Given the description of an element on the screen output the (x, y) to click on. 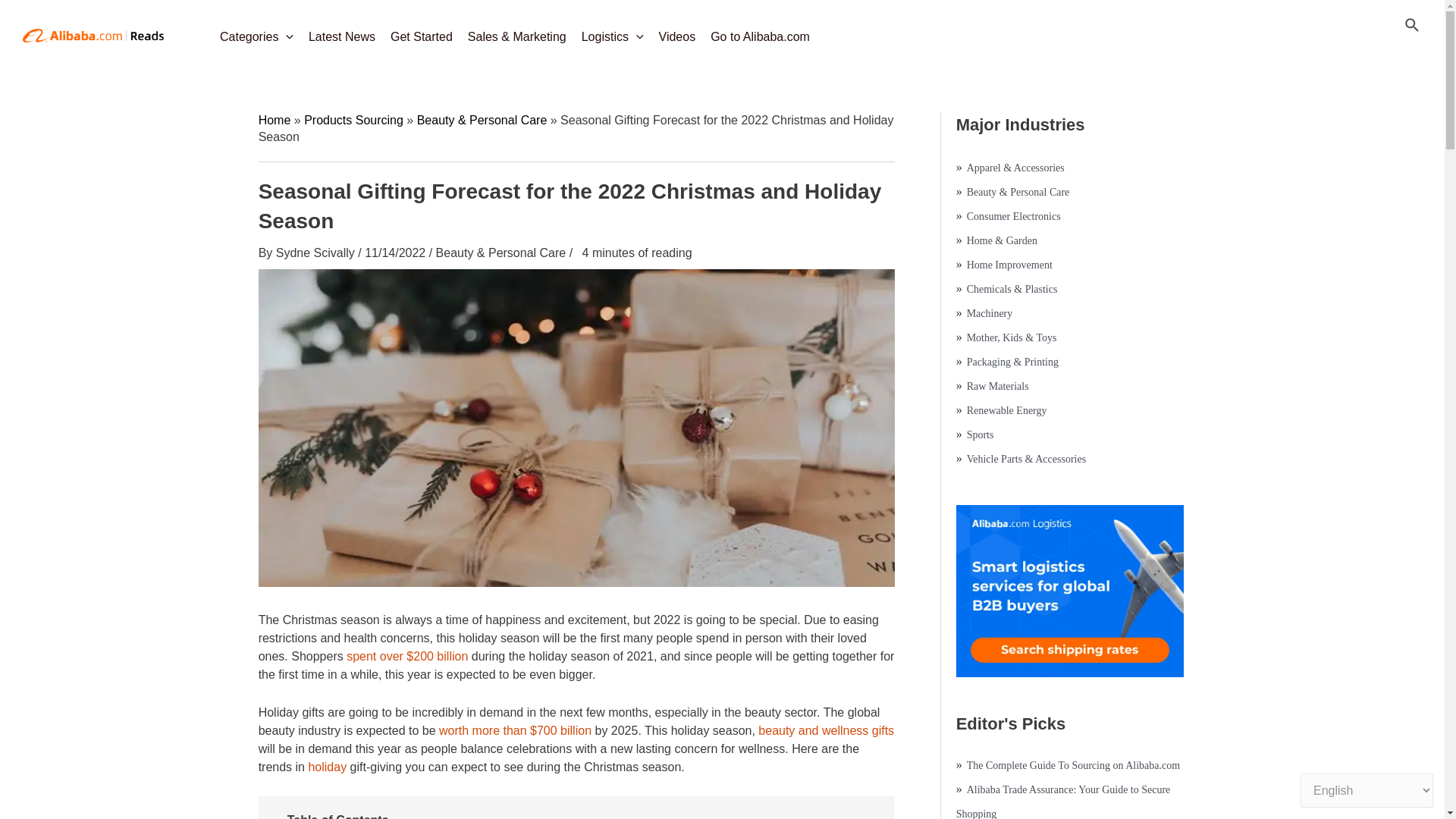
Go to Alibaba.com (759, 31)
View all posts by Sydne Scivally (317, 252)
Get Started (421, 31)
Logistics (611, 31)
Categories (256, 31)
Latest News (341, 31)
